Given the description of an element on the screen output the (x, y) to click on. 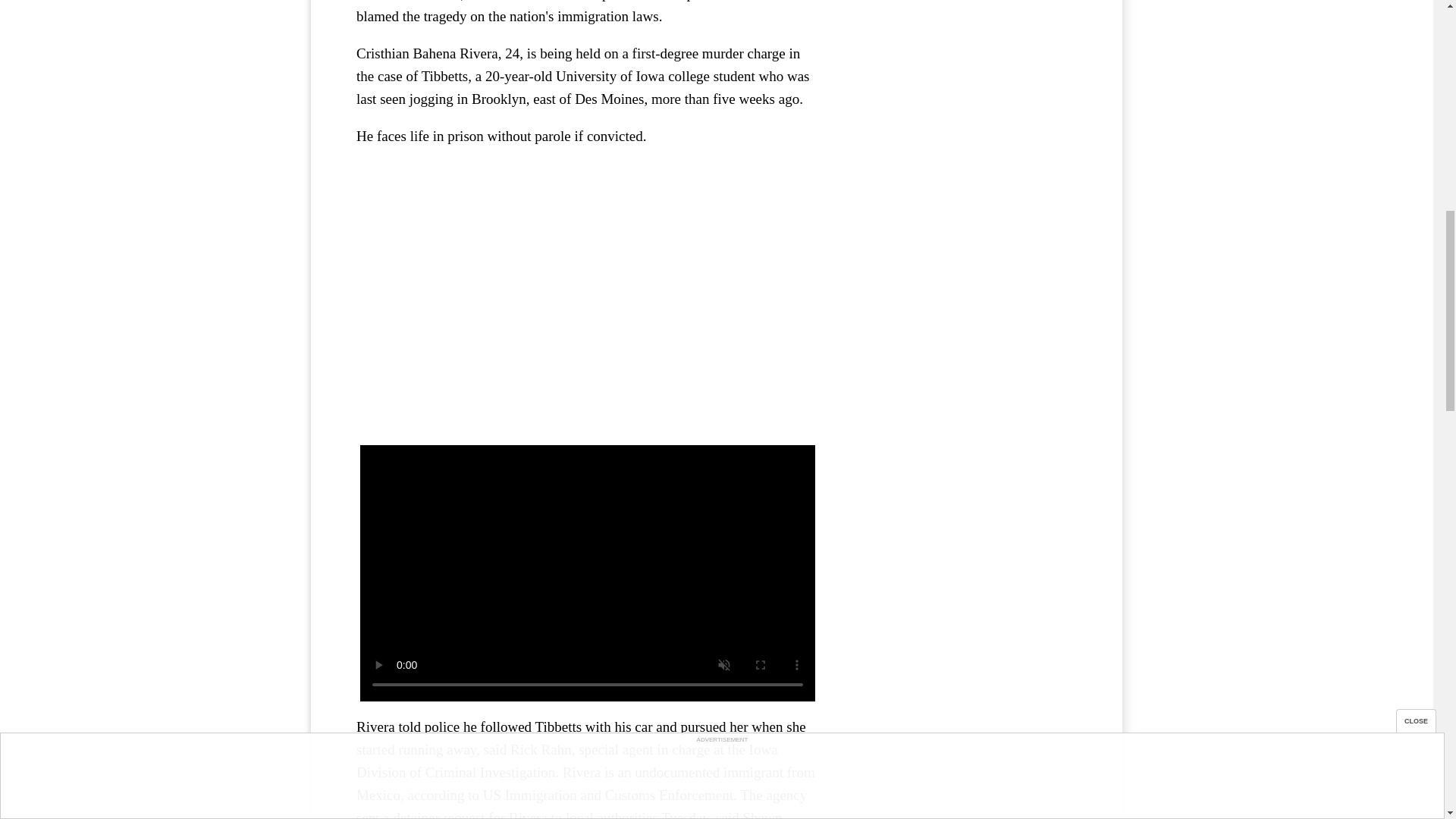
3rd party ad content (962, 52)
